Given the description of an element on the screen output the (x, y) to click on. 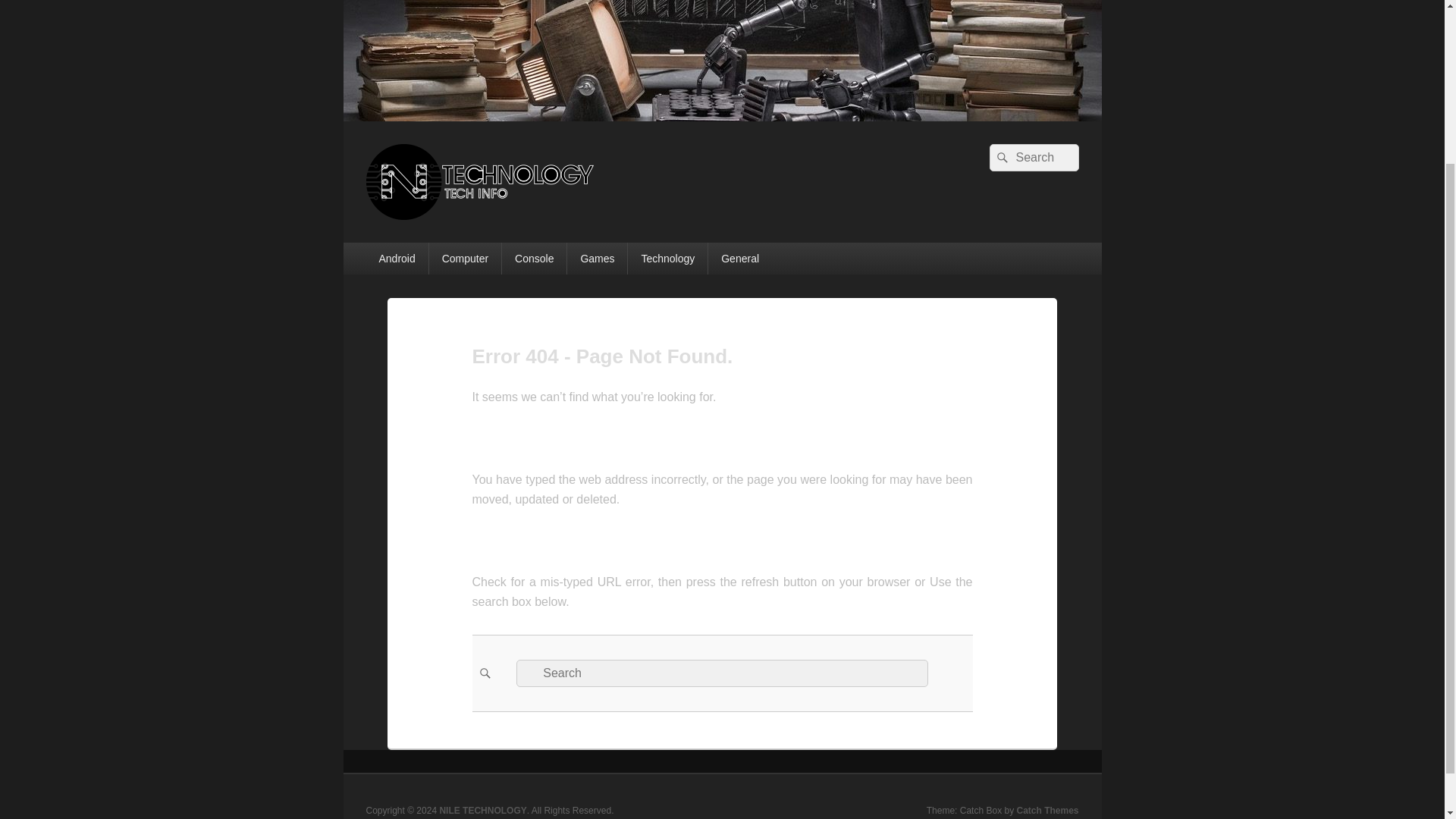
Android (396, 258)
Catch Themes (1047, 810)
Search for: (722, 673)
Console (534, 258)
NILE TECHNOLOGY (482, 810)
Search for: (1033, 157)
Games (597, 258)
NILE TECHNOLOGY (721, 116)
Computer (464, 258)
NILE TECHNOLOGY (496, 236)
